Given the description of an element on the screen output the (x, y) to click on. 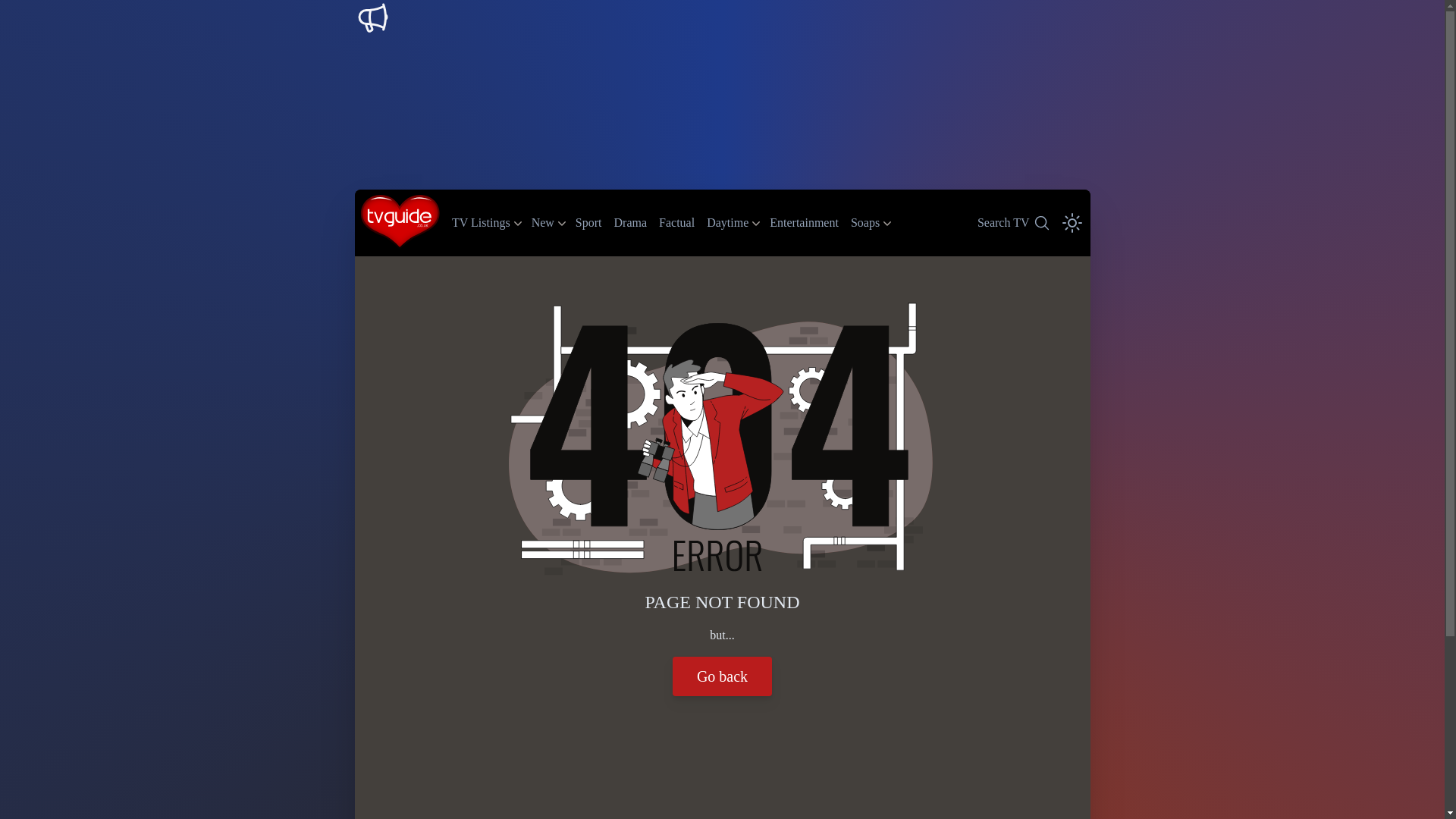
Open Theme Dropdown (1071, 222)
TV Listings (480, 223)
Factual (676, 222)
Entertainment (803, 222)
Daytime (727, 223)
Search TV Guide (1012, 222)
Sport (1012, 222)
Soaps (588, 222)
New (864, 223)
Drama (542, 223)
